Given the description of an element on the screen output the (x, y) to click on. 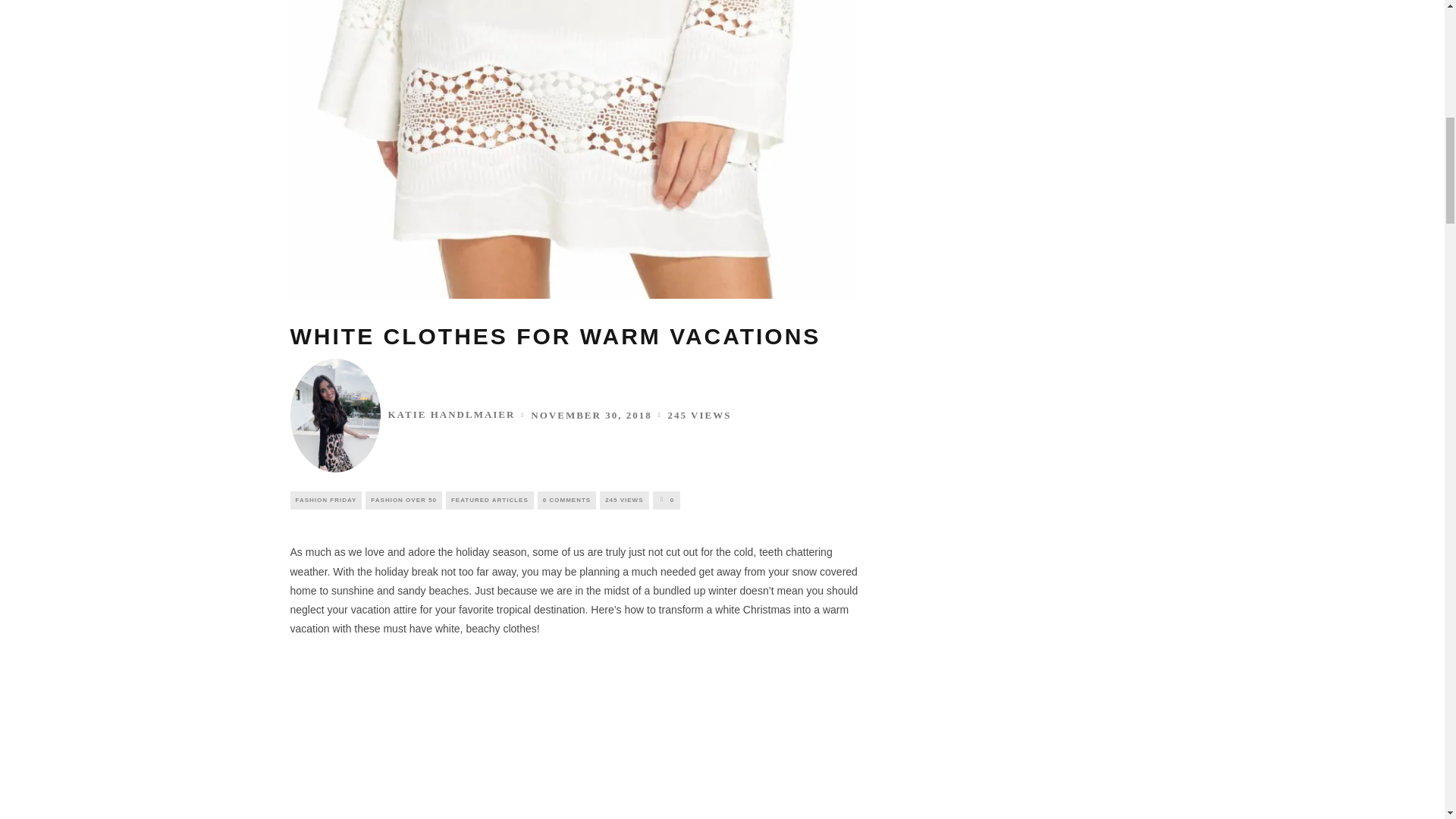
View all posts in Fashion Over 50 (403, 500)
View all posts in fashion friday (325, 500)
View all posts in Featured Articles (489, 500)
